Given the description of an element on the screen output the (x, y) to click on. 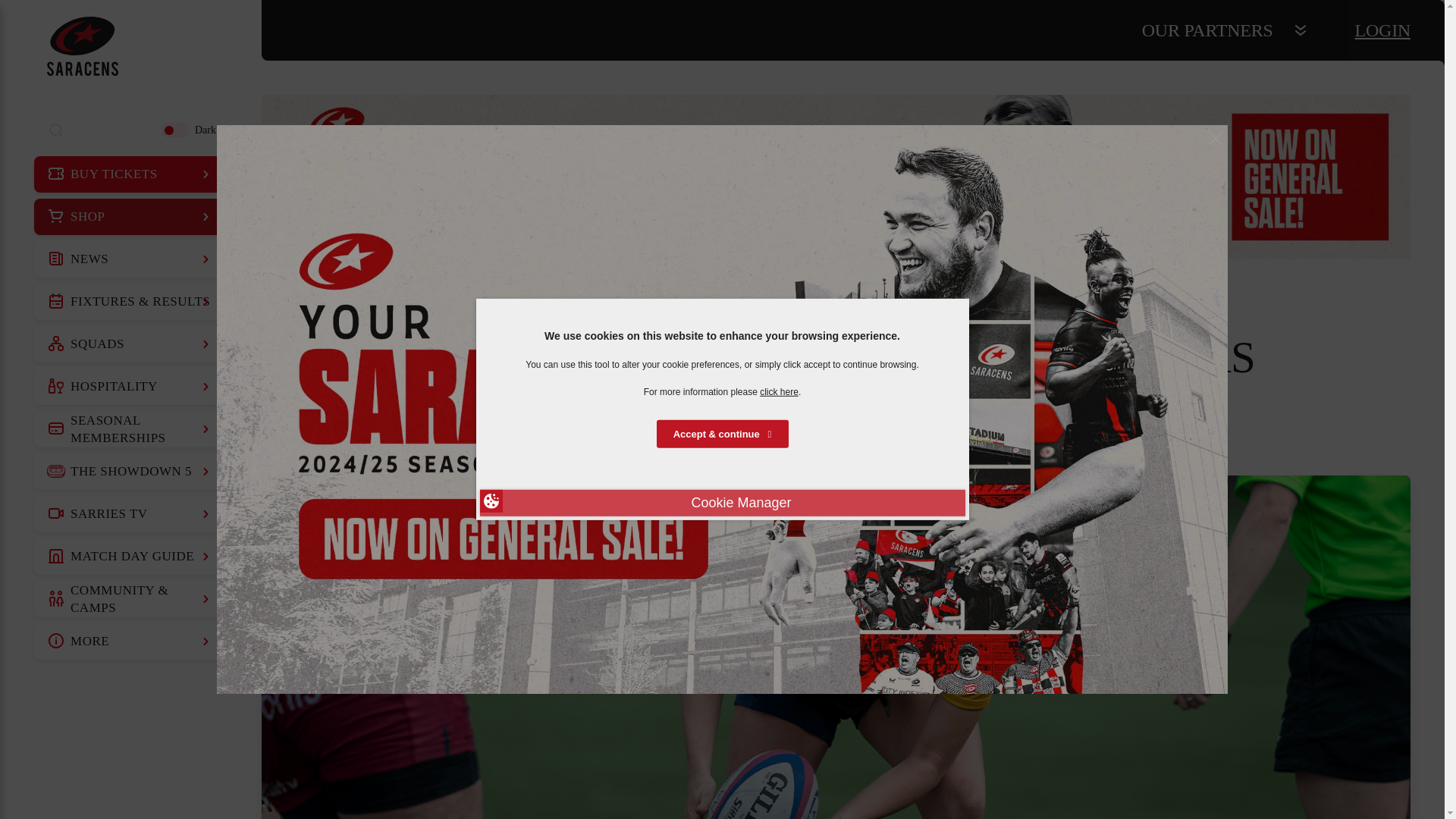
BUY TICKETS (130, 174)
LOGIN (1382, 29)
Search (55, 130)
Cookie Manager (721, 502)
SHOP (130, 217)
MORE (130, 641)
MATCH DAY GUIDE (130, 556)
SQUADS (130, 343)
SARRIES TV (130, 514)
THE SHOWDOWN 5 (130, 471)
HOSPITALITY (130, 386)
NEWS (130, 258)
SEASONAL MEMBERSHIPS (130, 429)
